Given the description of an element on the screen output the (x, y) to click on. 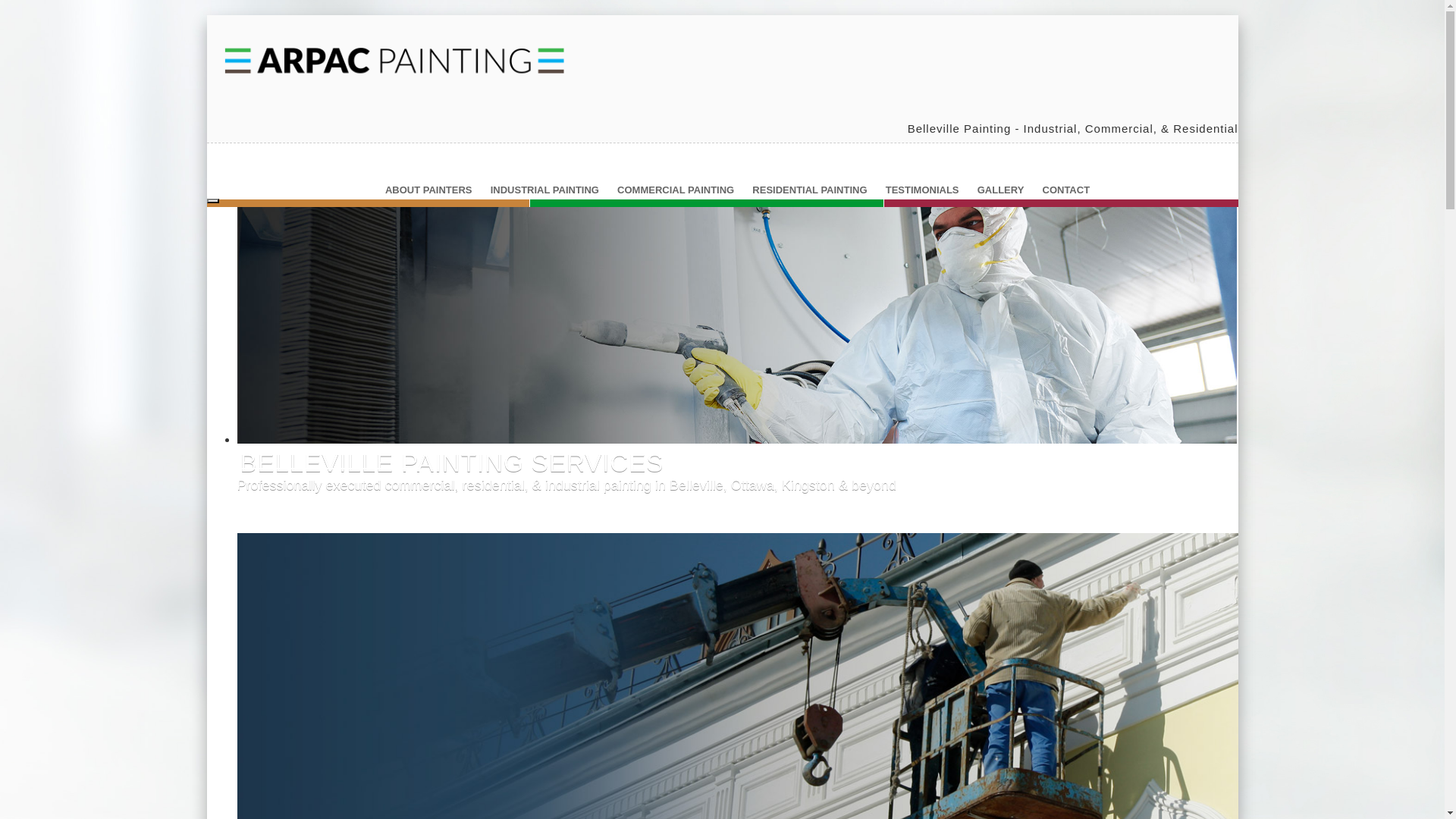
INDUSTRIAL PAINTING Element type: text (328, 484)
INDUSTRIAL PAINTING Element type: text (544, 189)
COMMERCIAL PAINTING Element type: text (675, 189)
ABOUT PAINTERS Element type: text (313, 501)
CONTACT Element type: text (1065, 189)
Arpac Painting Element type: hover (395, 58)
GALLERY Element type: text (1000, 189)
ABOUT PAINTERS Element type: text (428, 189)
TESTIMONIALS Element type: text (922, 189)
CONTACT Element type: text (285, 519)
RESIDENTIAL PAINTING Element type: text (809, 189)
